Given the description of an element on the screen output the (x, y) to click on. 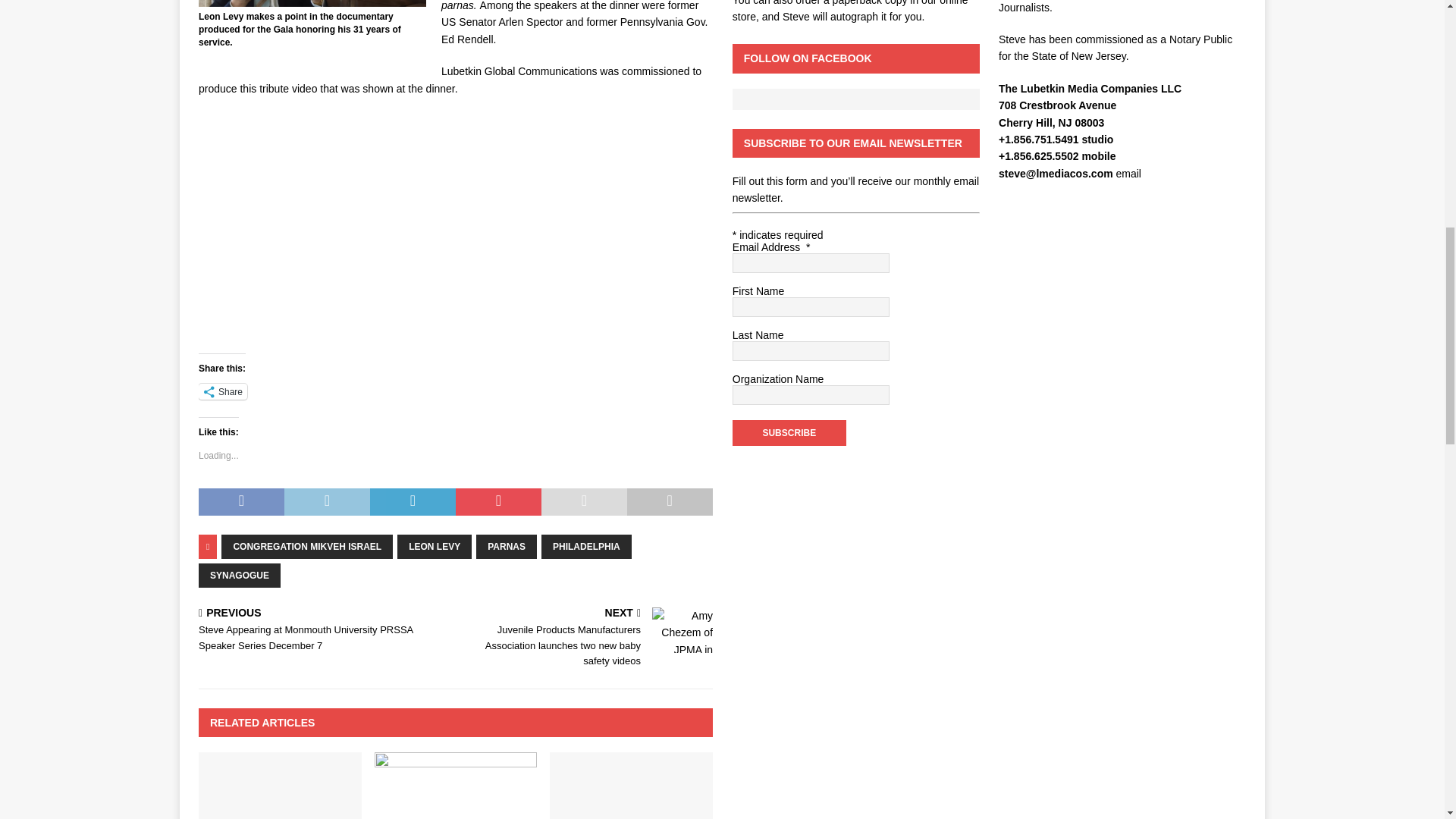
Leon Levy Tribute Video (409, 230)
LeonLevy (312, 3)
Subscribe (788, 432)
PARNAS (506, 546)
Concert photography: Robert Hazard, June 2006 (279, 785)
CONGREGATION MIKVEH ISRAEL (307, 546)
LEON LEVY (434, 546)
Share (222, 391)
